Given the description of an element on the screen output the (x, y) to click on. 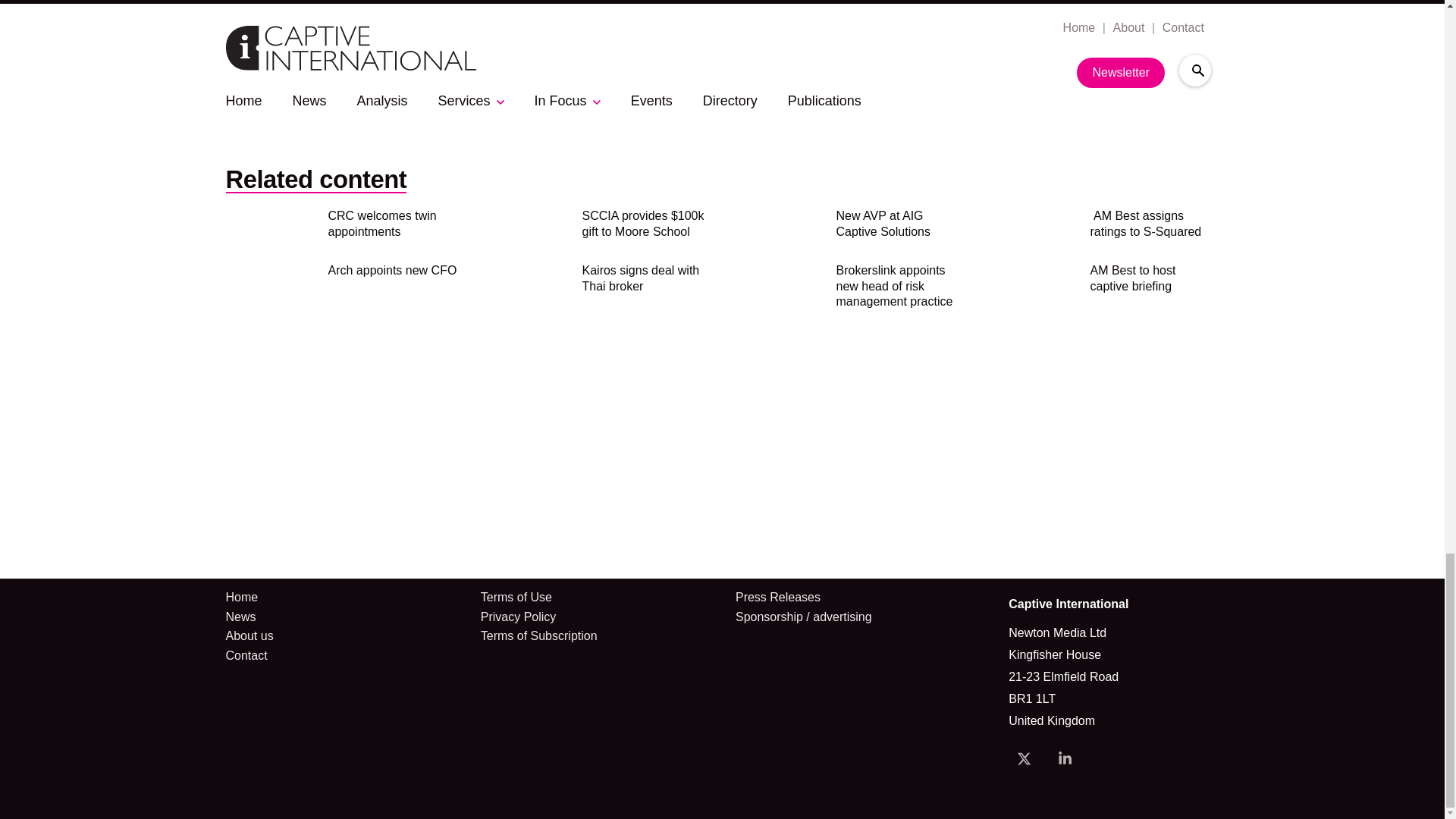
3rd party ad content (722, 77)
